Given the description of an element on the screen output the (x, y) to click on. 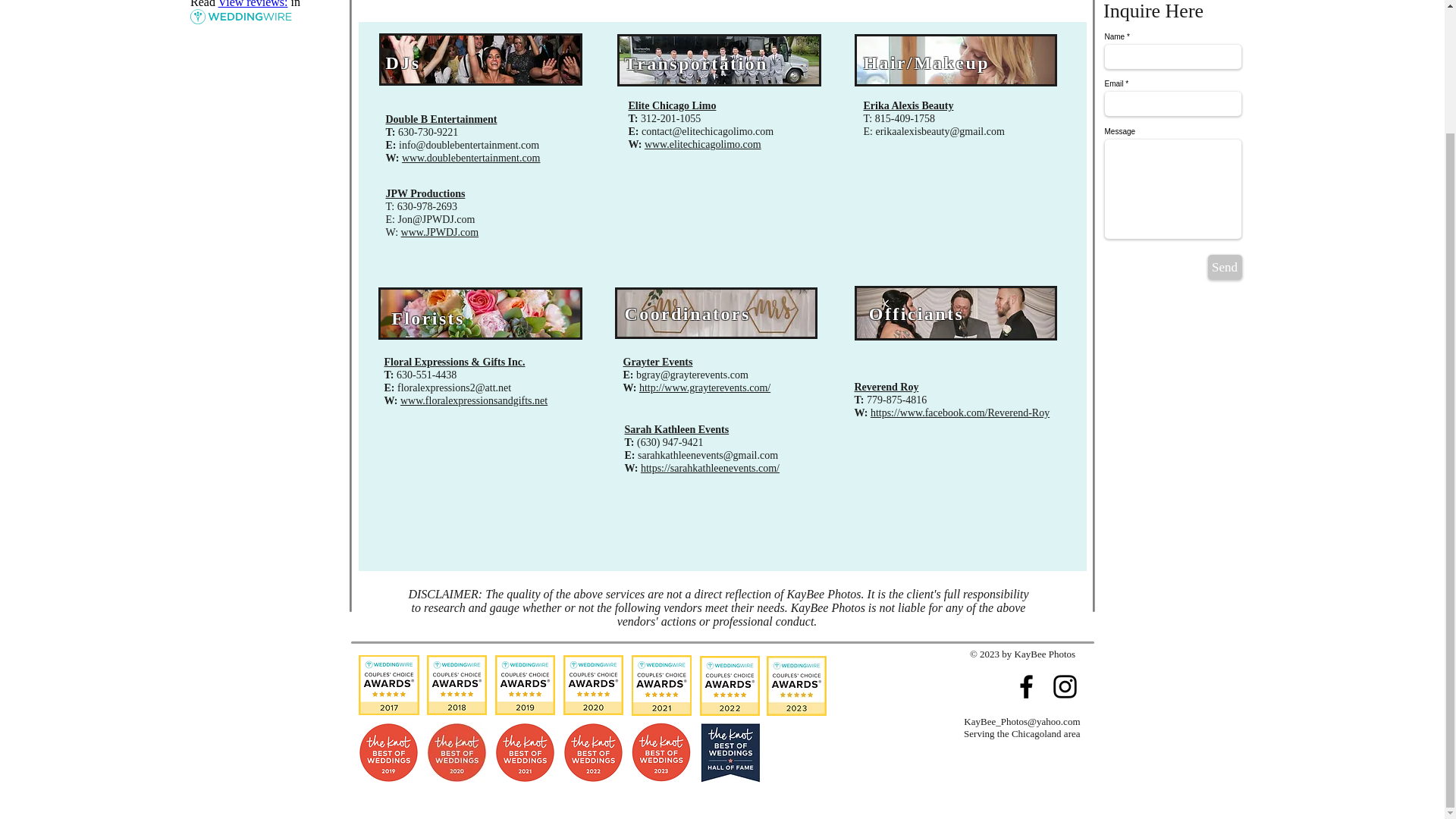
www.elitechicagolimo.com (703, 143)
www.doublebentertainment.com (470, 157)
www.JPWDJ.com (440, 232)
Send (1224, 267)
ww.floralexpressionsandgifts.net (477, 400)
